Given the description of an element on the screen output the (x, y) to click on. 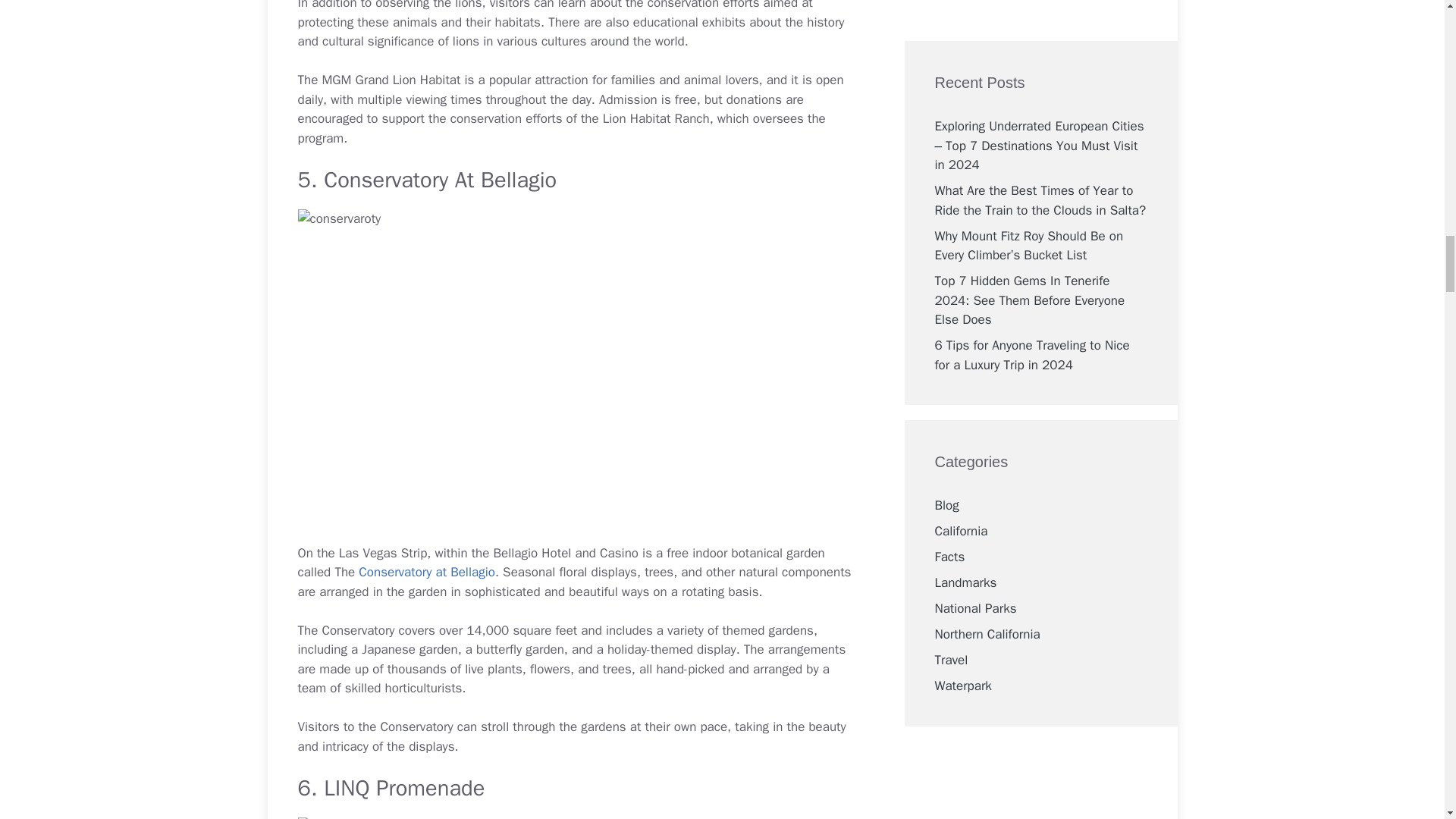
Conservatory at Bellagio (426, 571)
